Given the description of an element on the screen output the (x, y) to click on. 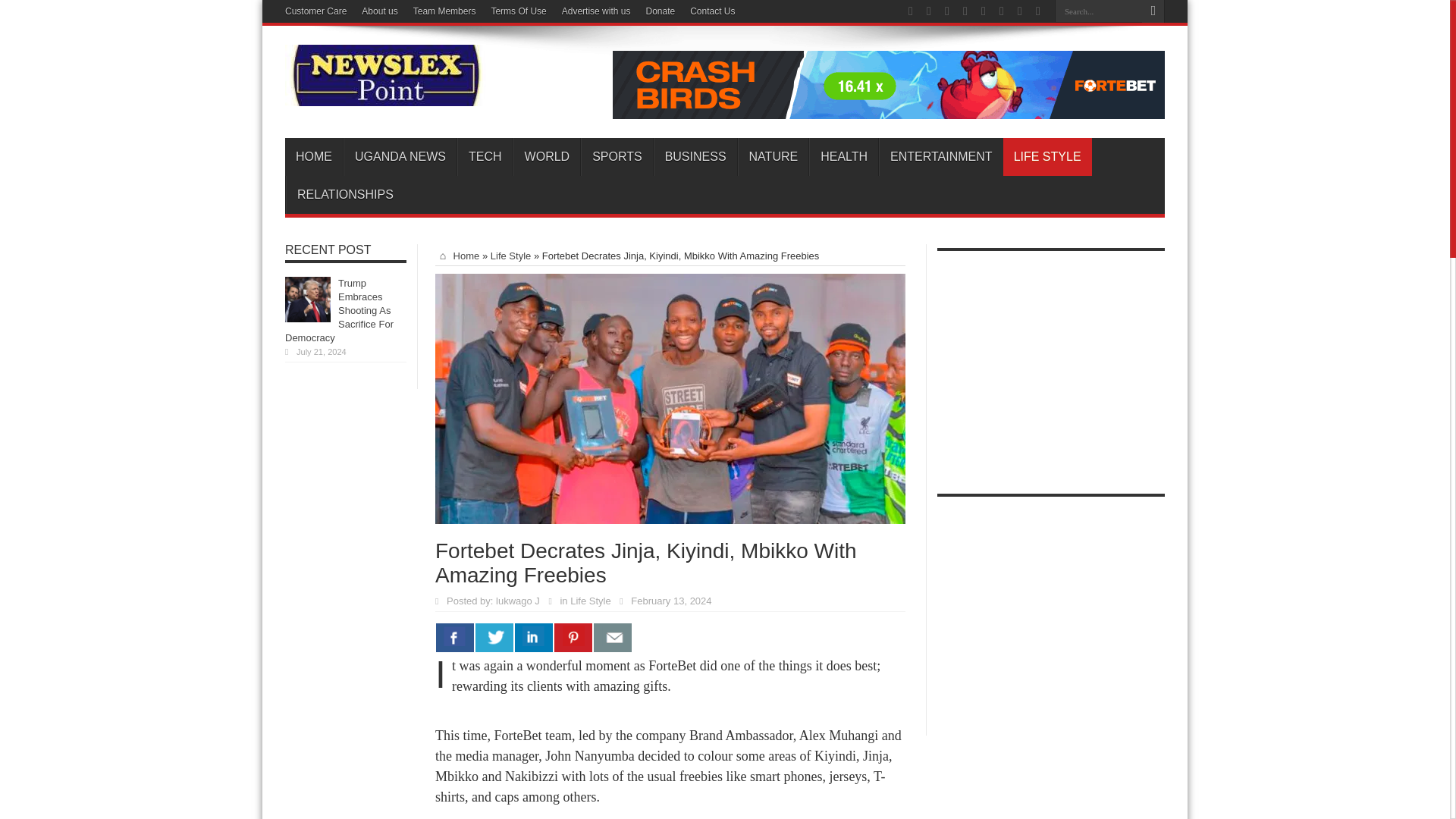
Team Members (444, 11)
UGANDA NEWS (400, 157)
Newslex Point (385, 94)
Terms Of Use (518, 11)
TECH (484, 157)
HOME (313, 157)
About us (379, 11)
Customer Care (315, 11)
Search (1152, 11)
Advertise with us (596, 11)
Search... (1097, 11)
Donate (660, 11)
Contact Us (712, 11)
